Given the description of an element on the screen output the (x, y) to click on. 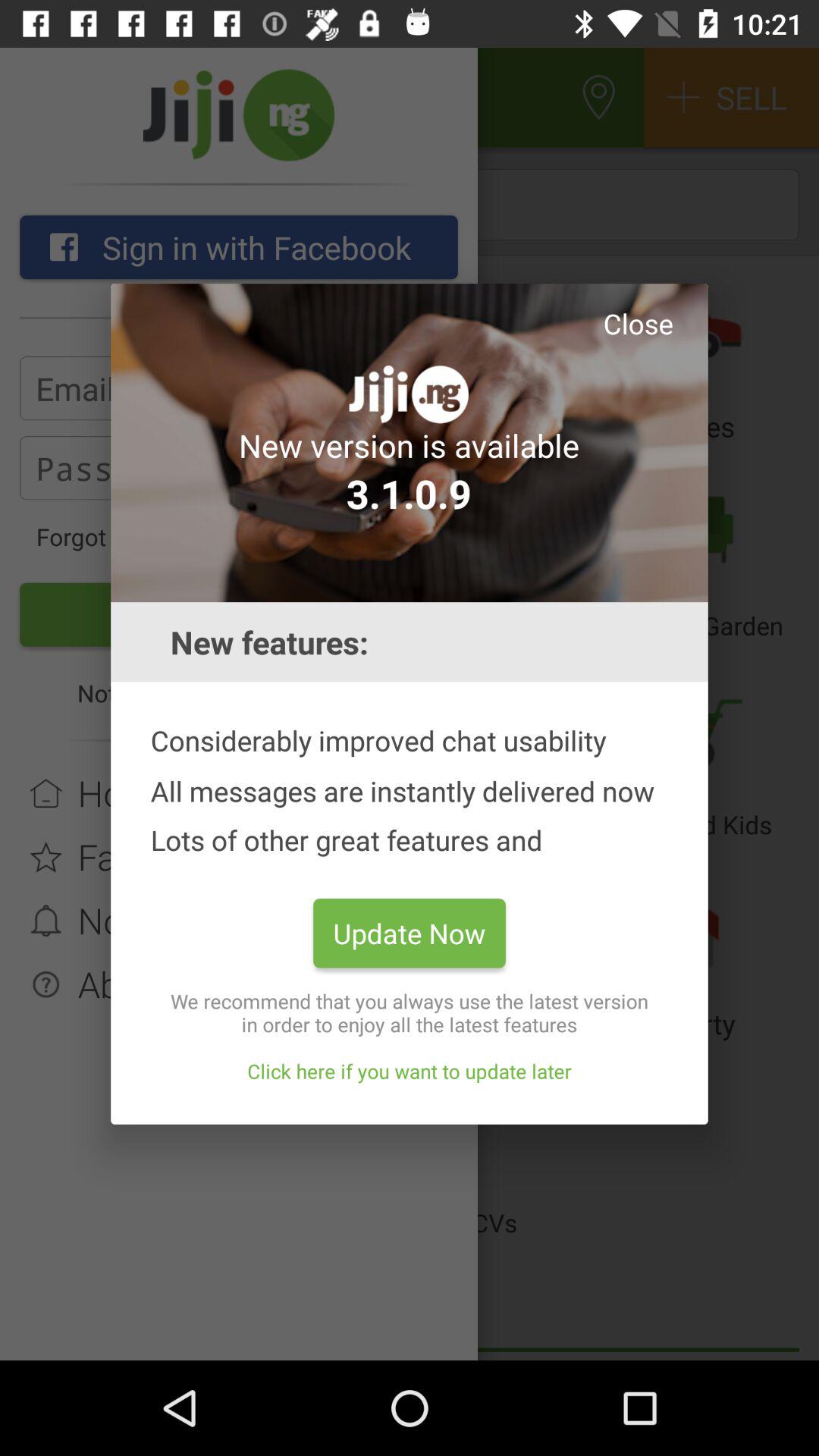
press the icon above new version is app (638, 323)
